Given the description of an element on the screen output the (x, y) to click on. 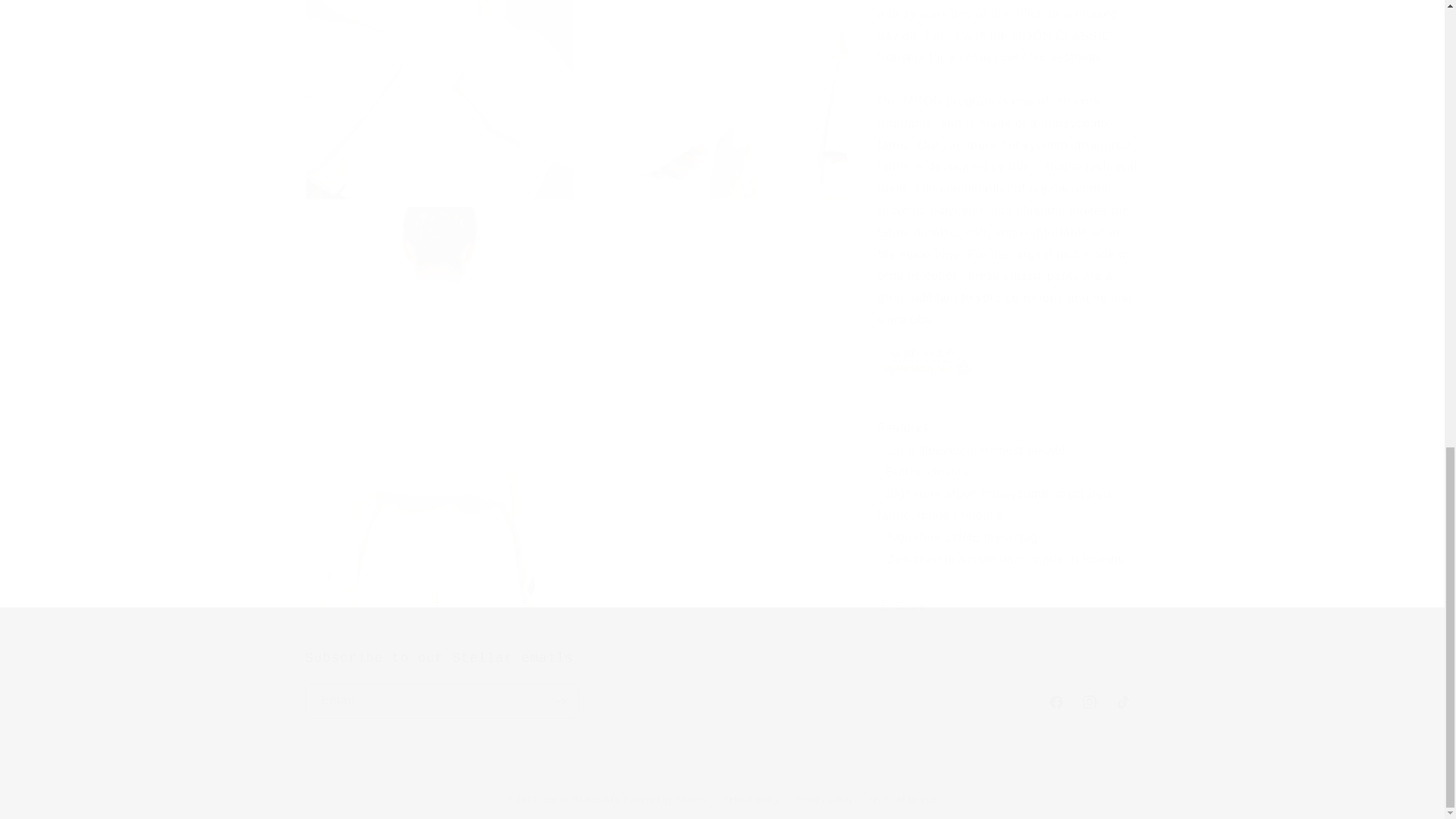
Open media 2 in modal (438, 92)
Open media 3 in modal (713, 92)
